Given the description of an element on the screen output the (x, y) to click on. 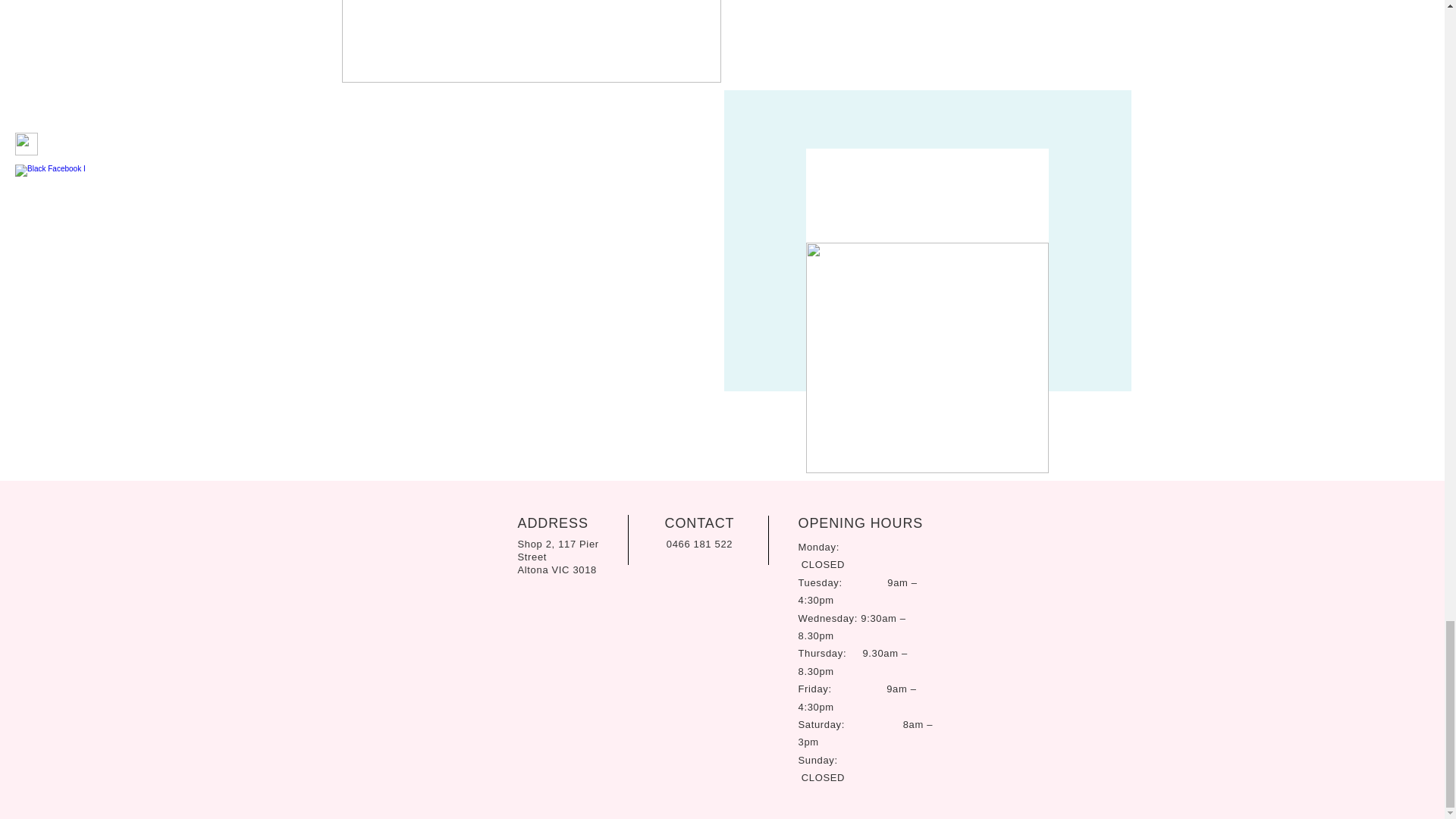
0466 181 522 (699, 543)
CONTACT (700, 522)
